Given the description of an element on the screen output the (x, y) to click on. 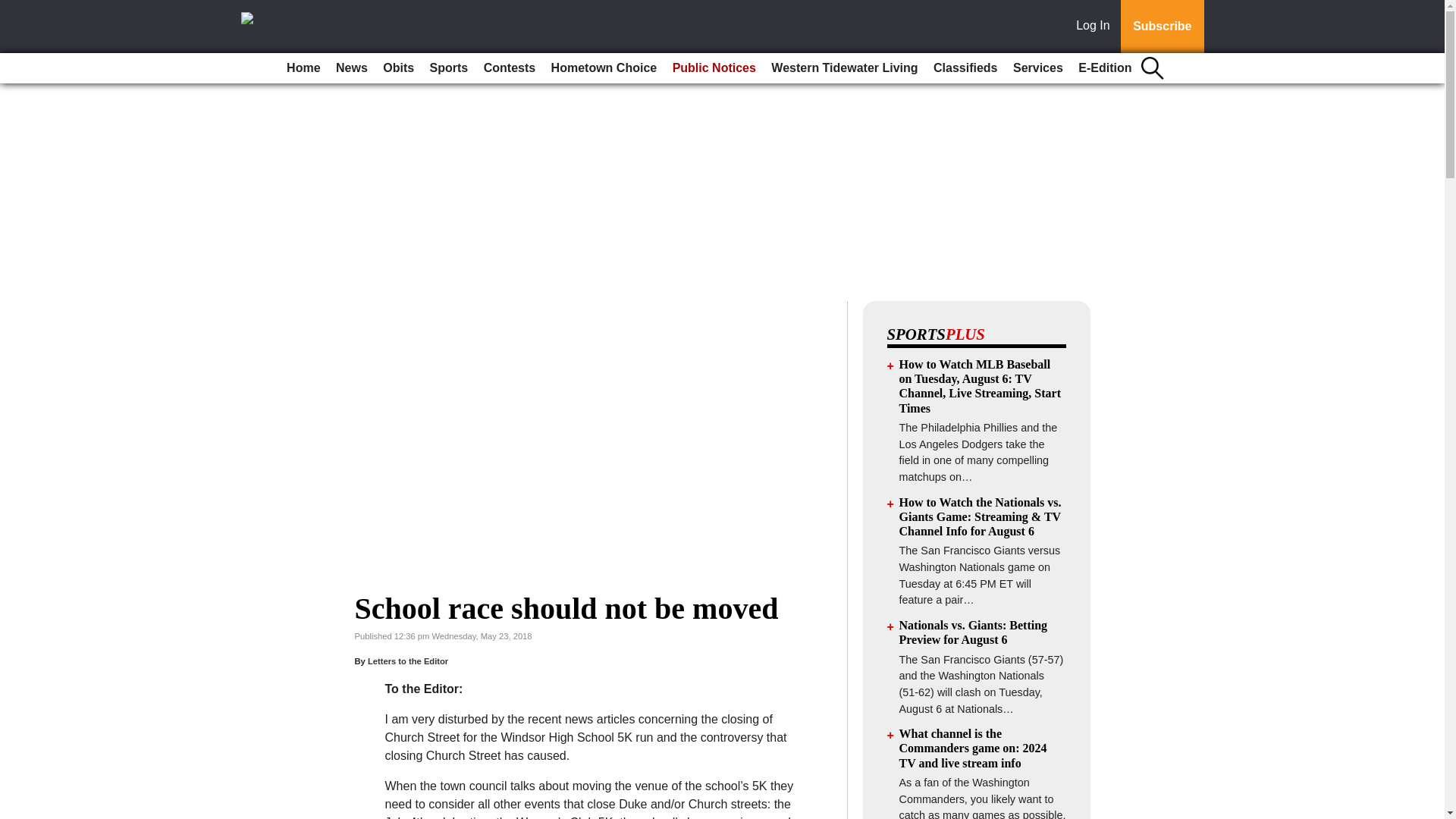
Log In (1095, 26)
Services (1037, 68)
Western Tidewater Living (844, 68)
Contests (509, 68)
E-Edition (1104, 68)
Classifieds (965, 68)
Subscribe (1162, 26)
Public Notices (713, 68)
News (352, 68)
Obits (398, 68)
Home (303, 68)
Letters to the Editor (408, 660)
Sports (448, 68)
Go (13, 9)
Hometown Choice (603, 68)
